Given the description of an element on the screen output the (x, y) to click on. 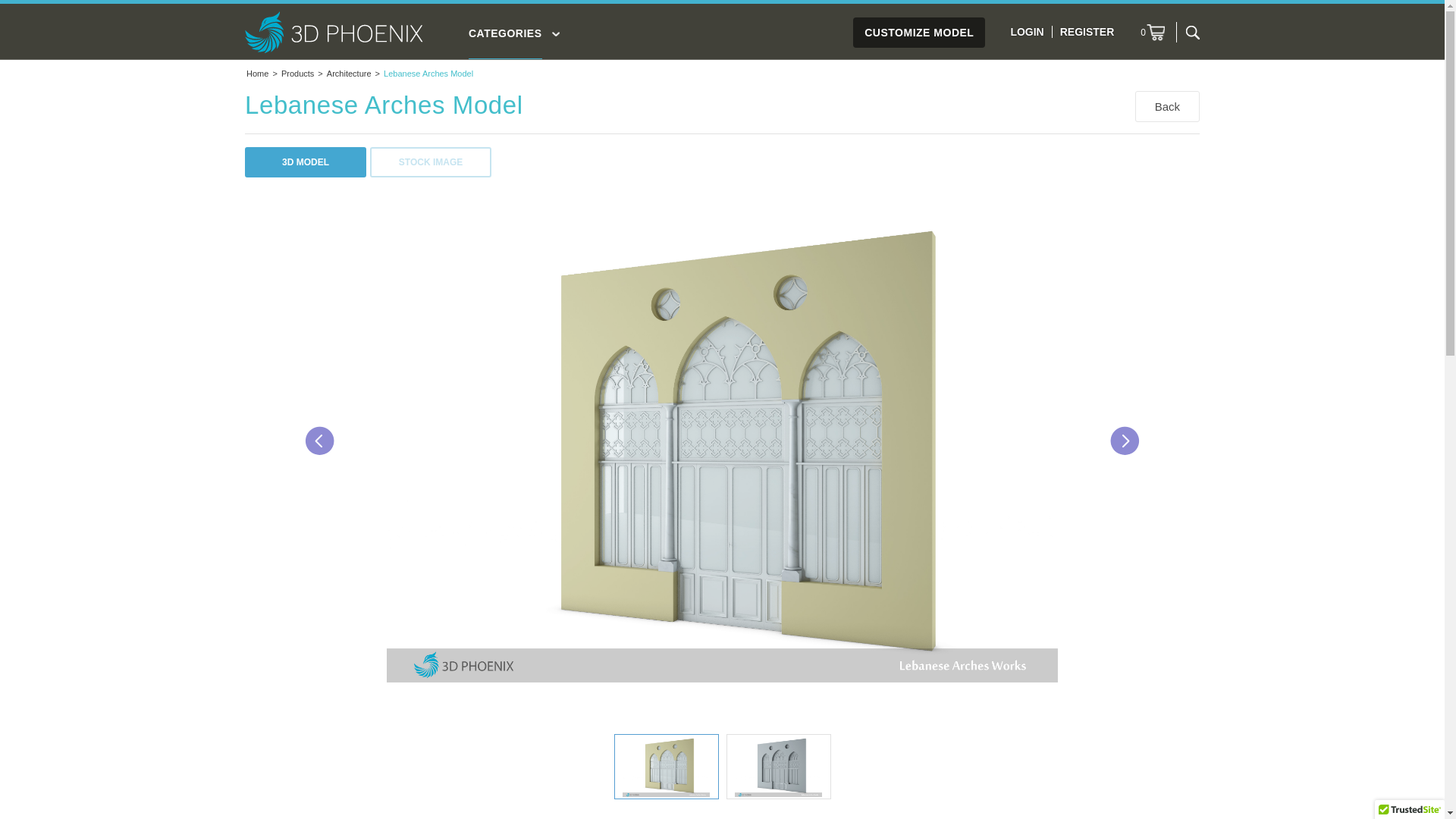
Previous Element type: text (319, 440)
3D MODEL Element type: text (305, 162)
Architecture Element type: text (349, 73)
Products Element type: text (297, 73)
Home Element type: text (257, 73)
CATEGORIES Element type: text (505, 43)
CUSTOMIZE MODEL Element type: text (919, 32)
3D Phoenix Element type: hover (333, 32)
REGISTER Element type: text (1087, 31)
0 Element type: text (1152, 32)
Back Element type: text (1167, 106)
STOCK IMAGE Element type: text (430, 162)
Next Element type: text (1124, 440)
LOGIN Element type: text (1026, 31)
